Given the description of an element on the screen output the (x, y) to click on. 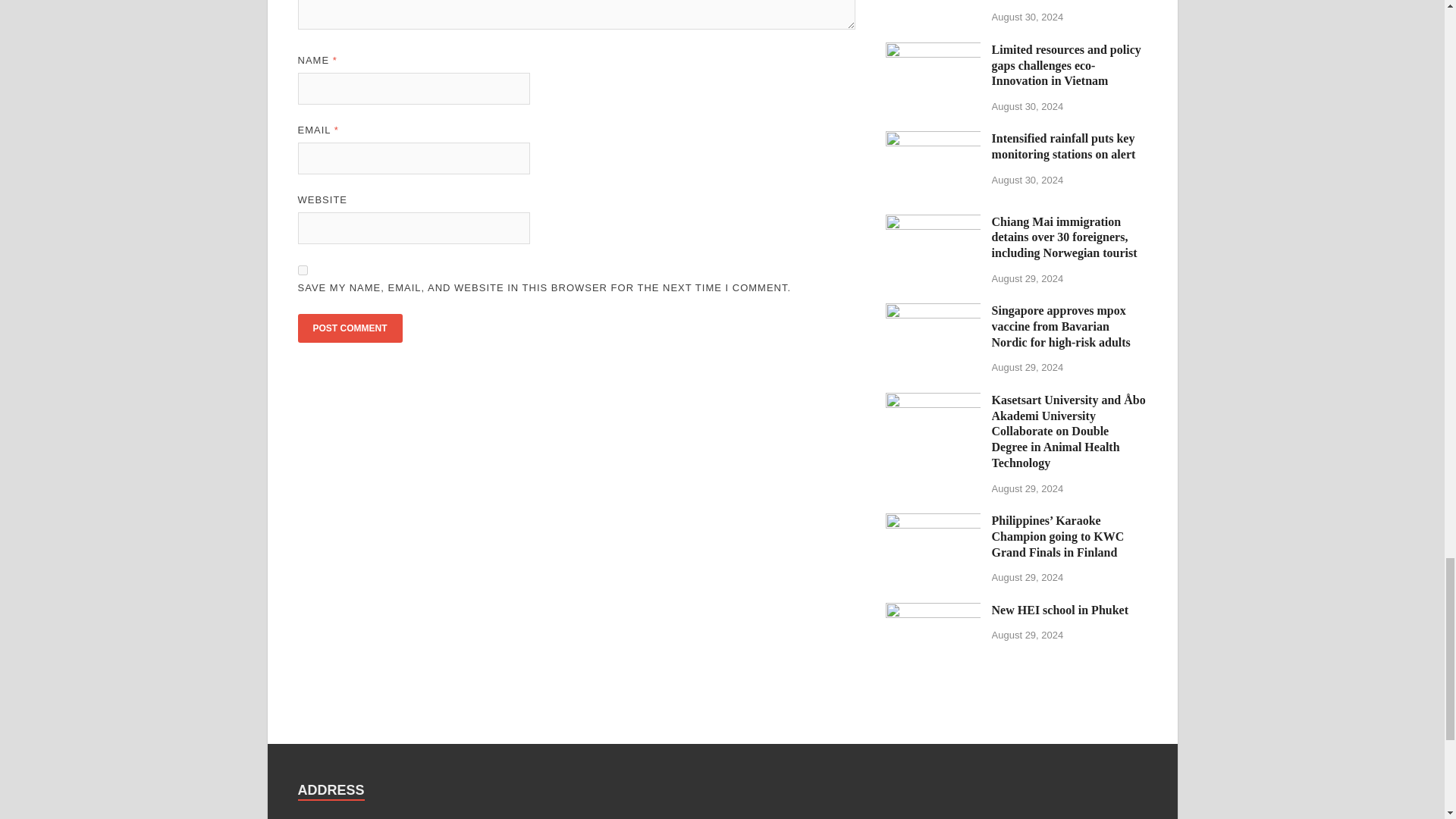
Post Comment (349, 328)
yes (302, 270)
